Given the description of an element on the screen output the (x, y) to click on. 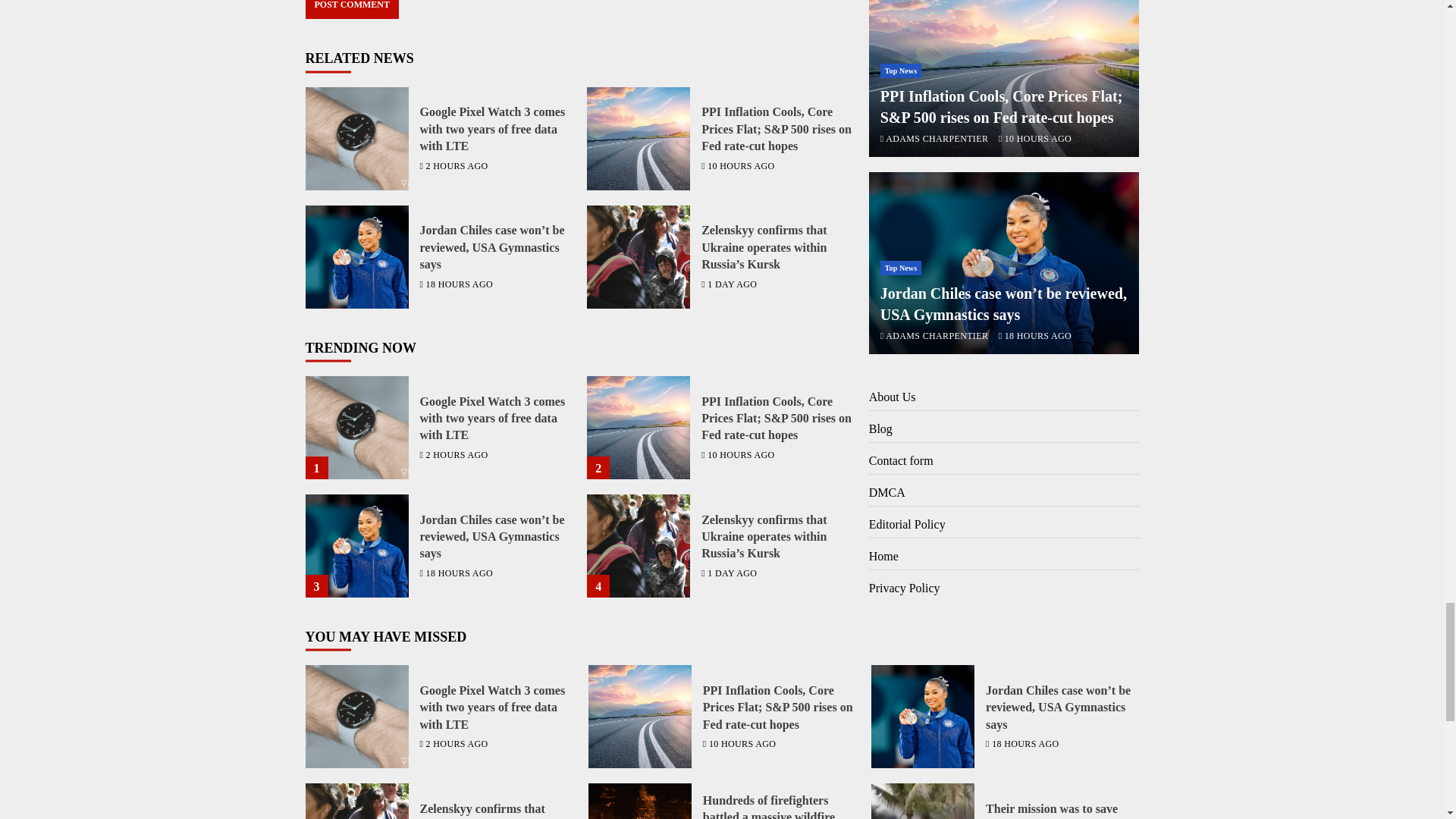
Post Comment (350, 9)
Post Comment (350, 9)
